Given the description of an element on the screen output the (x, y) to click on. 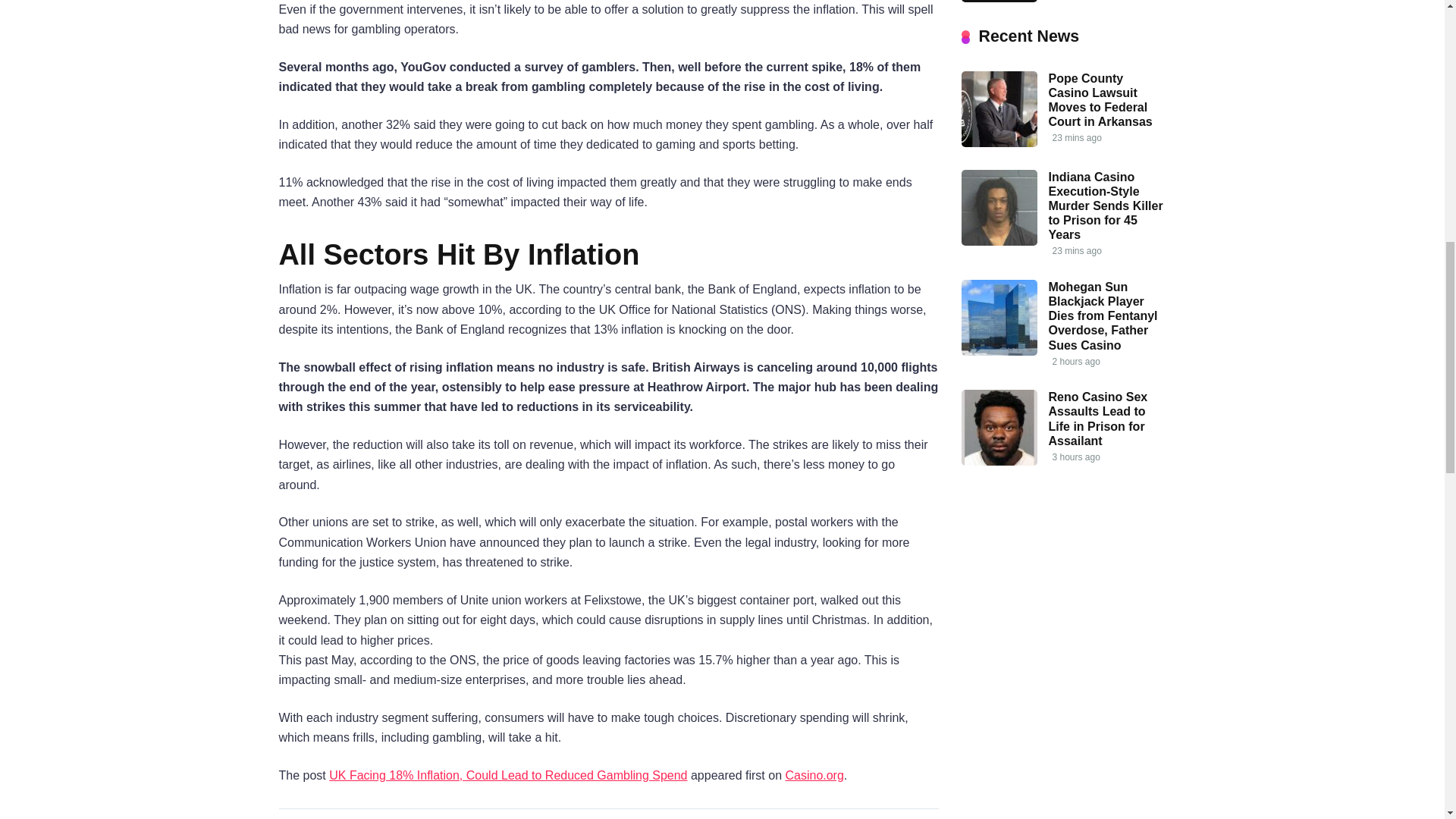
Casino.org (813, 775)
Monte Casino (998, 2)
